Given the description of an element on the screen output the (x, y) to click on. 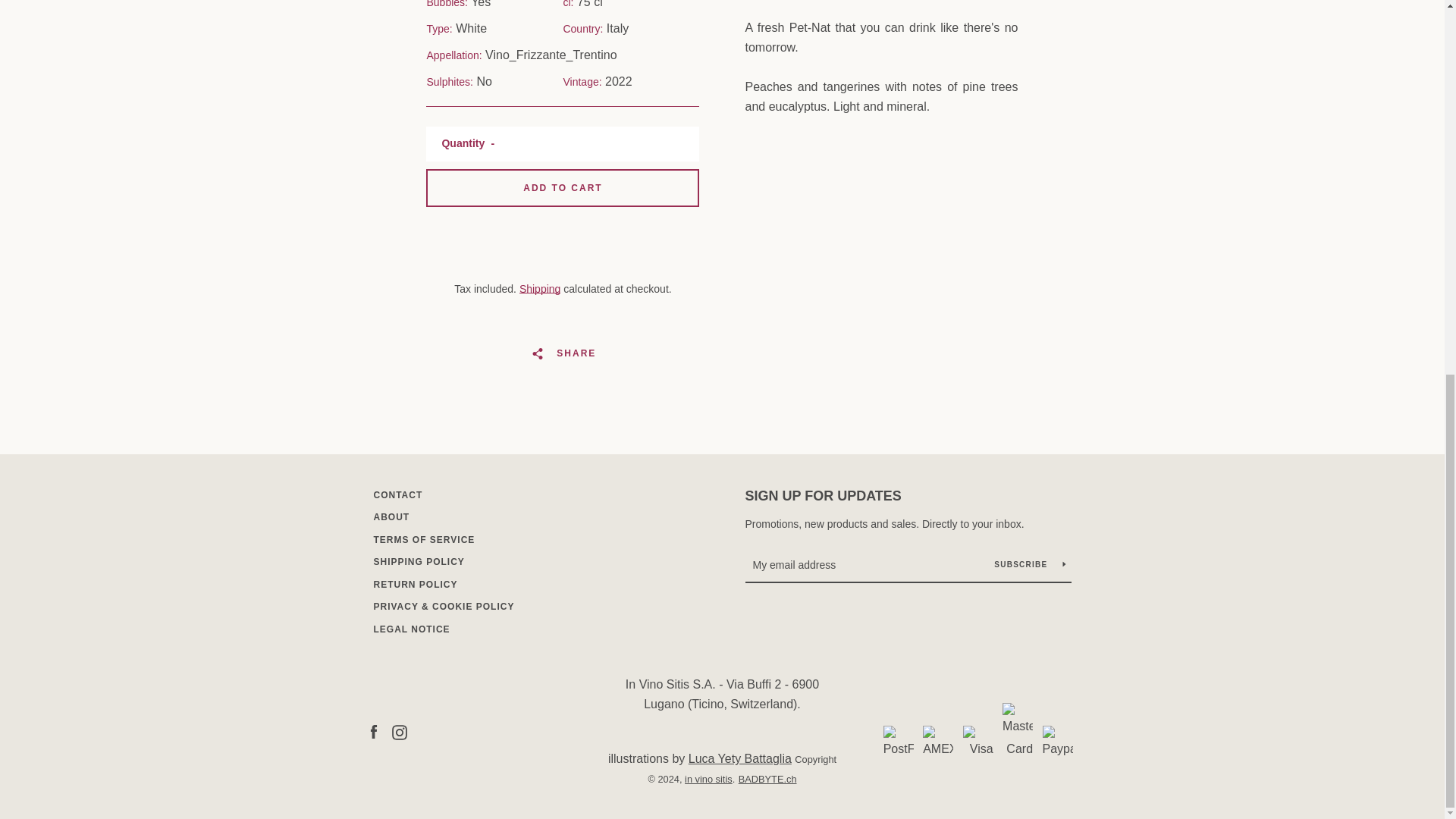
LEGAL NOTICE (410, 629)
Shipping (539, 288)
in vino sitis on Facebook (372, 730)
SHIPPING POLICY (418, 561)
ADD TO CART (562, 187)
ABOUT (390, 516)
in vino sitis on Instagram (399, 730)
Facebook (372, 730)
TERMS OF SERVICE (423, 539)
RETURN POLICY (414, 584)
SHARE (563, 353)
CONTACT (397, 494)
SUBSCRIBE (1029, 563)
